Given the description of an element on the screen output the (x, y) to click on. 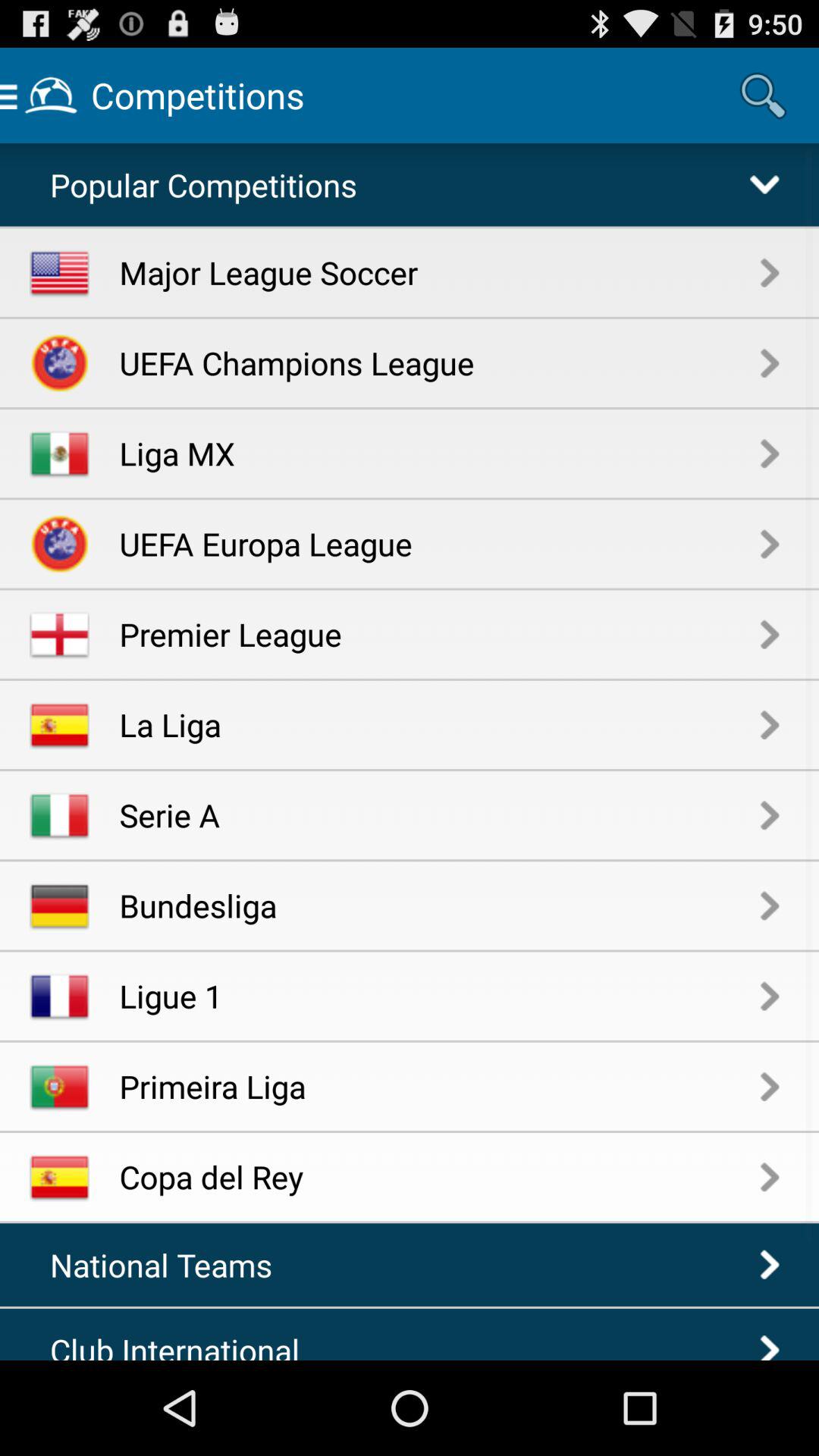
launch the item below the national teams (186, 1344)
